Given the description of an element on the screen output the (x, y) to click on. 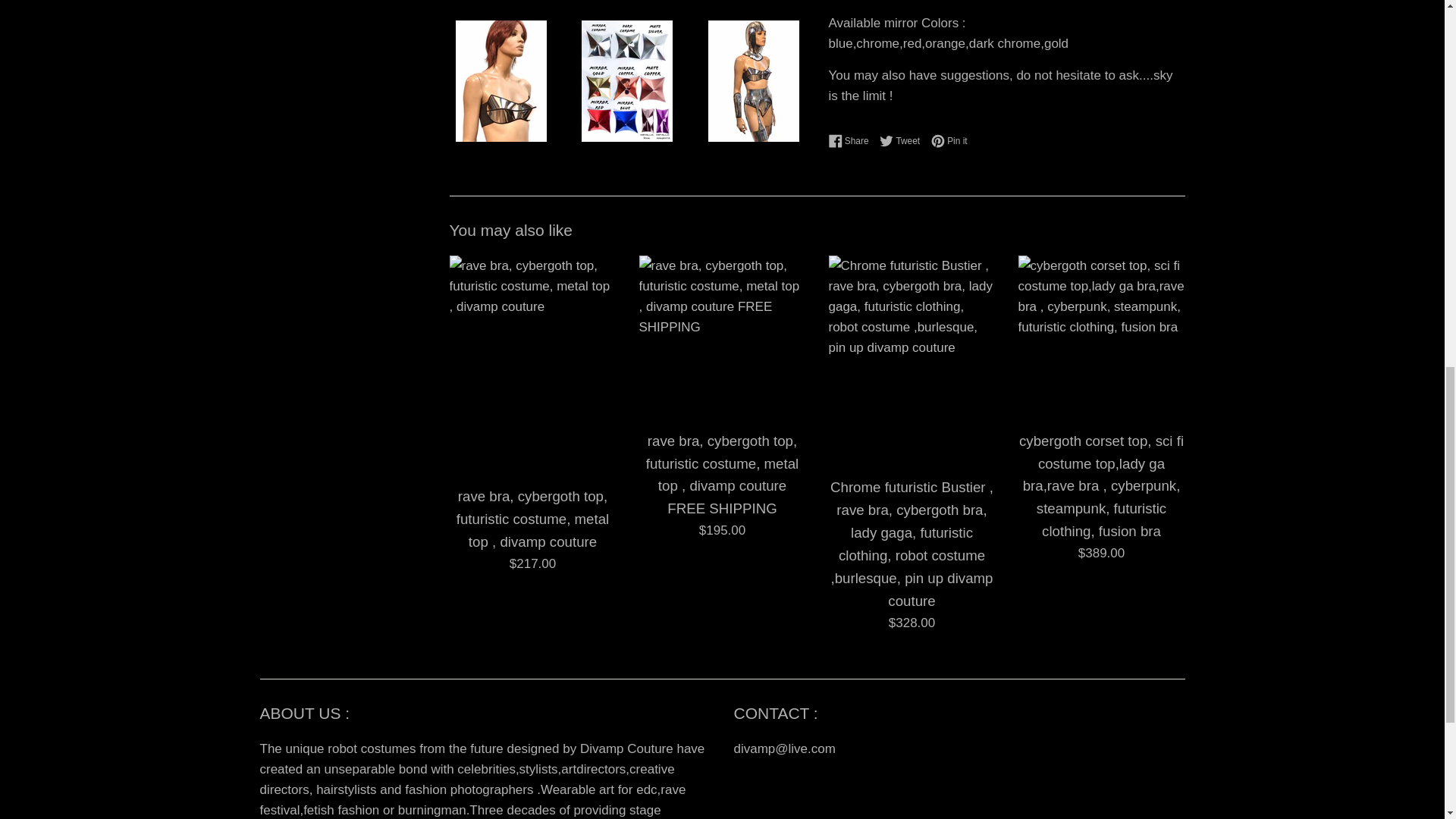
Share on Facebook (852, 141)
Tweet on Twitter (852, 141)
Pin on Pinterest (949, 141)
